Given the description of an element on the screen output the (x, y) to click on. 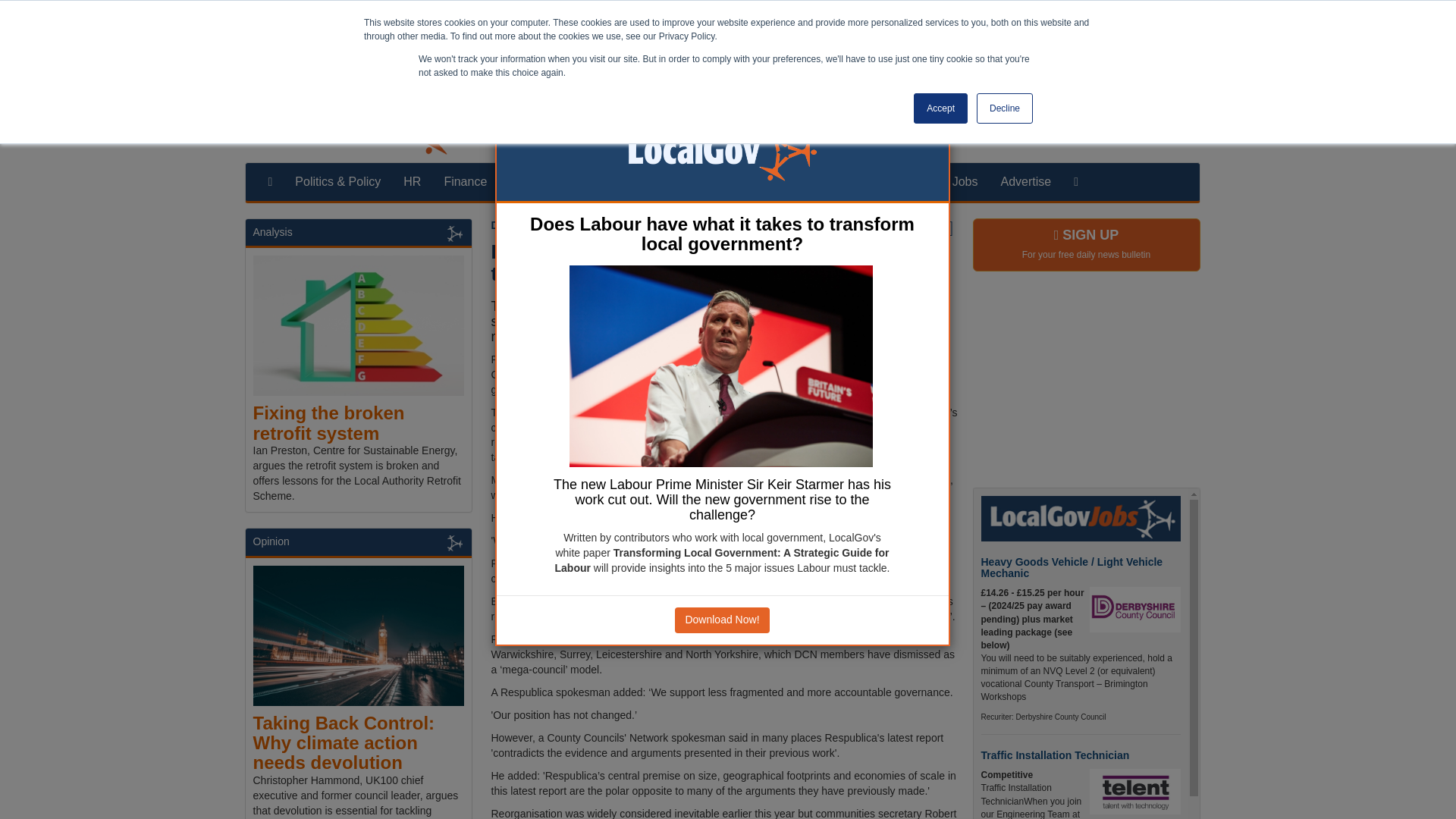
Opinion (271, 541)
Opinion (837, 181)
Rss (1181, 133)
Advertise (1025, 181)
3rd party ad content (721, 41)
Decline (1004, 108)
Products (905, 181)
3rd party ad content (1085, 380)
 Traffic Installation Technician (1055, 755)
HR (411, 181)
facebook (1119, 133)
Dan Peters (519, 224)
Finance (464, 181)
Analysis (772, 181)
linkedin (1150, 133)
